Given the description of an element on the screen output the (x, y) to click on. 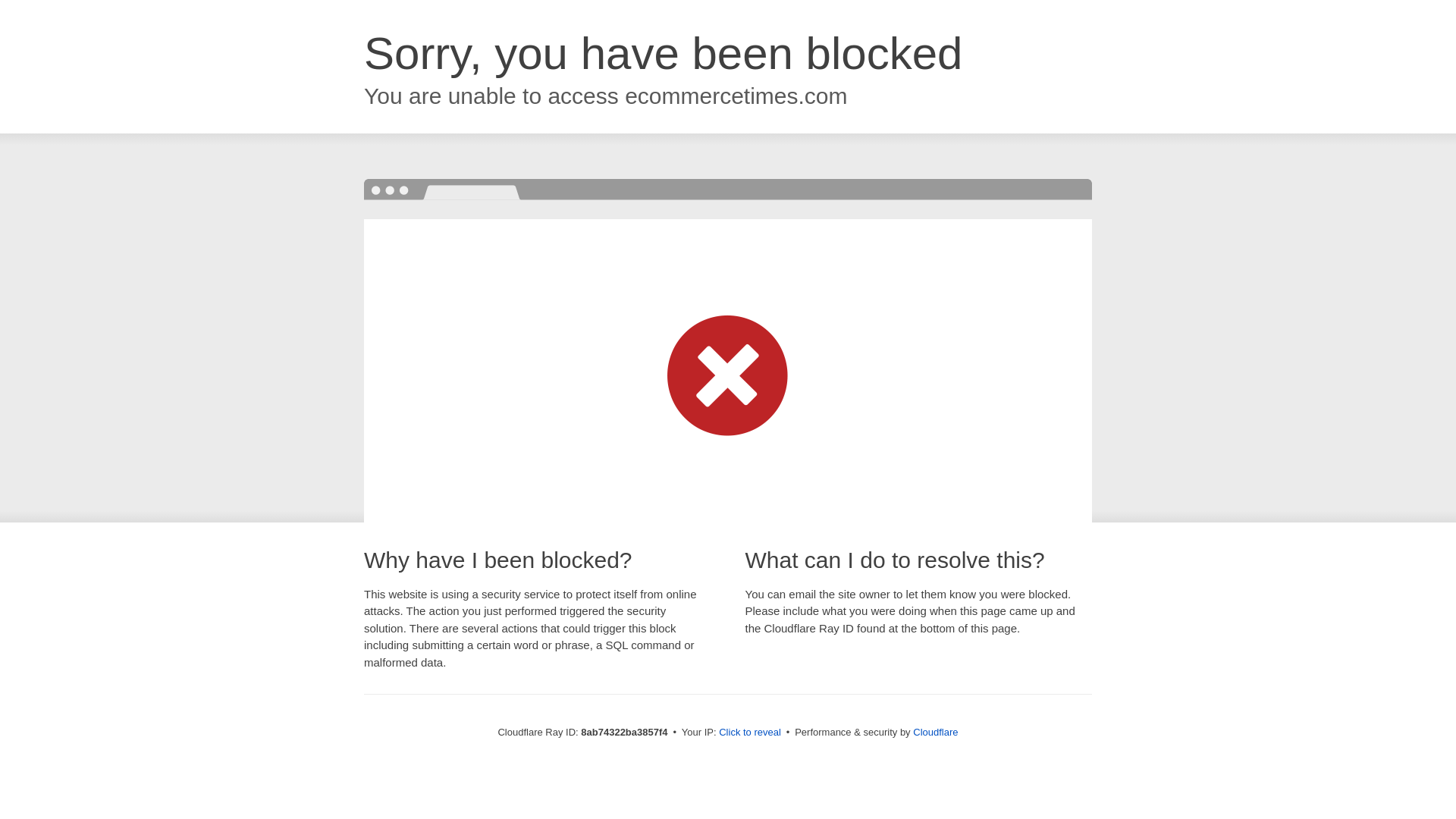
Click to reveal (749, 732)
Cloudflare (935, 731)
